Given the description of an element on the screen output the (x, y) to click on. 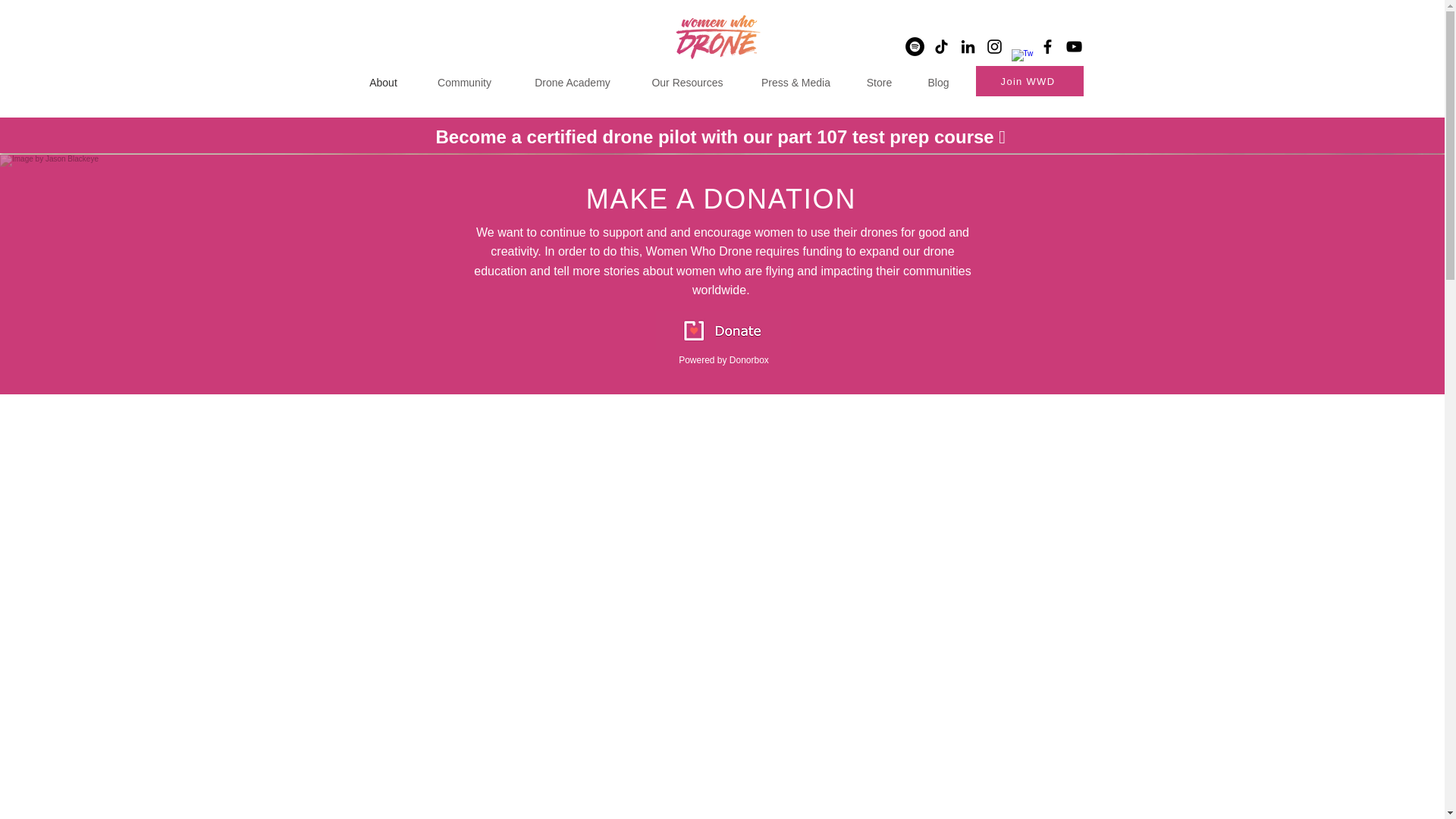
Join WWD (1029, 81)
About (382, 75)
Drone Academy (571, 75)
Our Resources (686, 75)
Blog (939, 75)
Community (463, 75)
Store (879, 75)
